Given the description of an element on the screen output the (x, y) to click on. 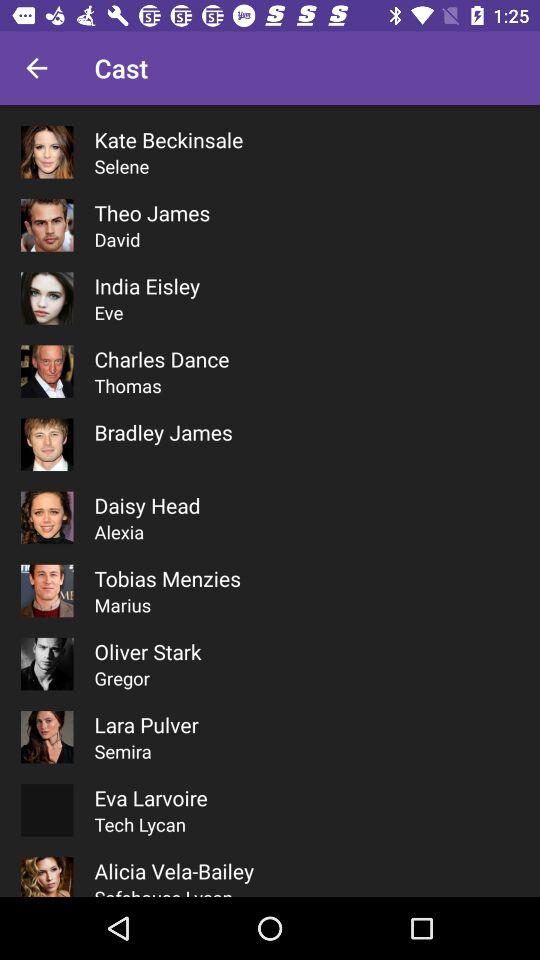
press eva larvoire icon (150, 797)
